Given the description of an element on the screen output the (x, y) to click on. 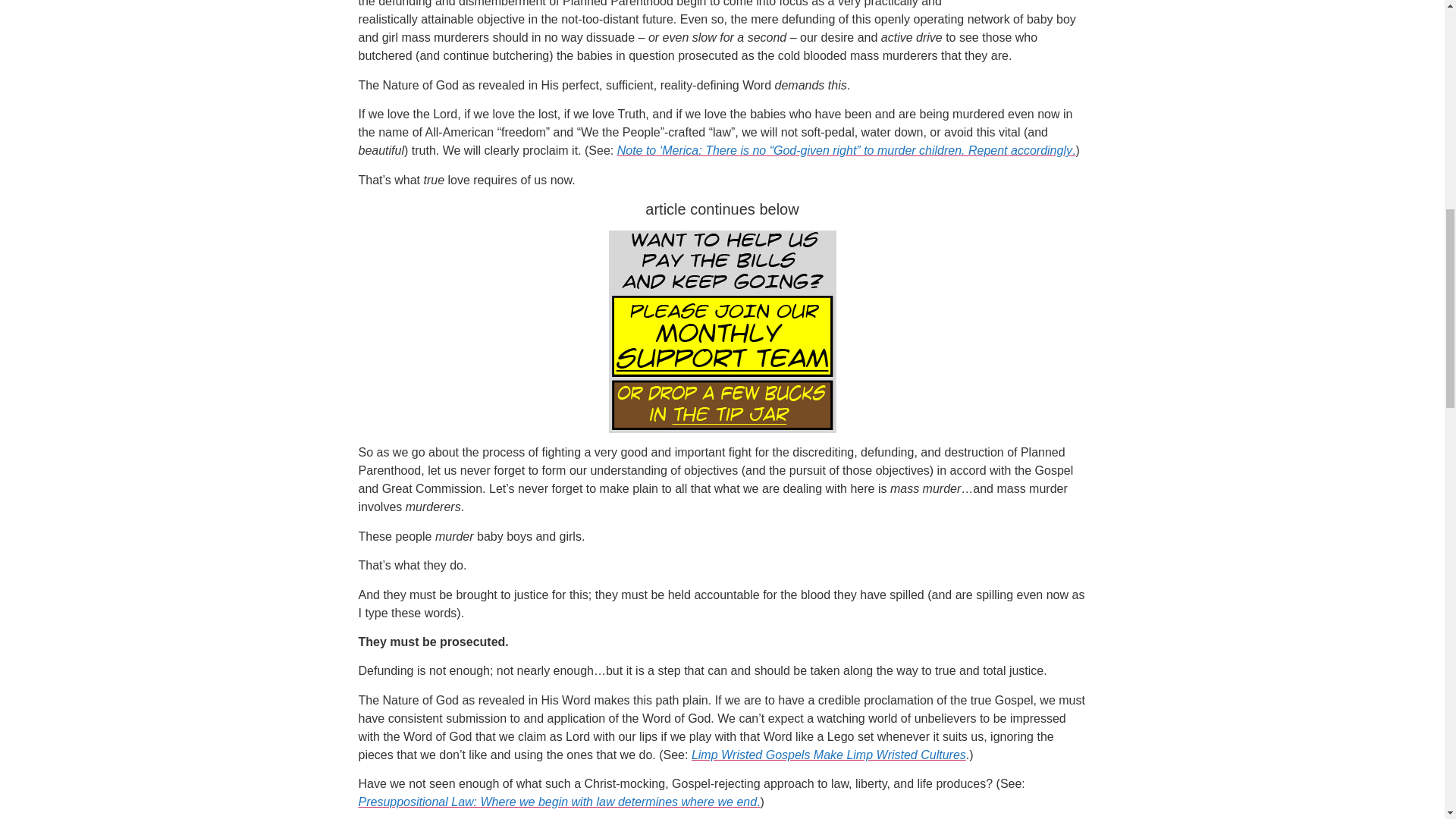
Limp Wristed Gospels Make Limp Wristed Cultures (828, 754)
